Given the description of an element on the screen output the (x, y) to click on. 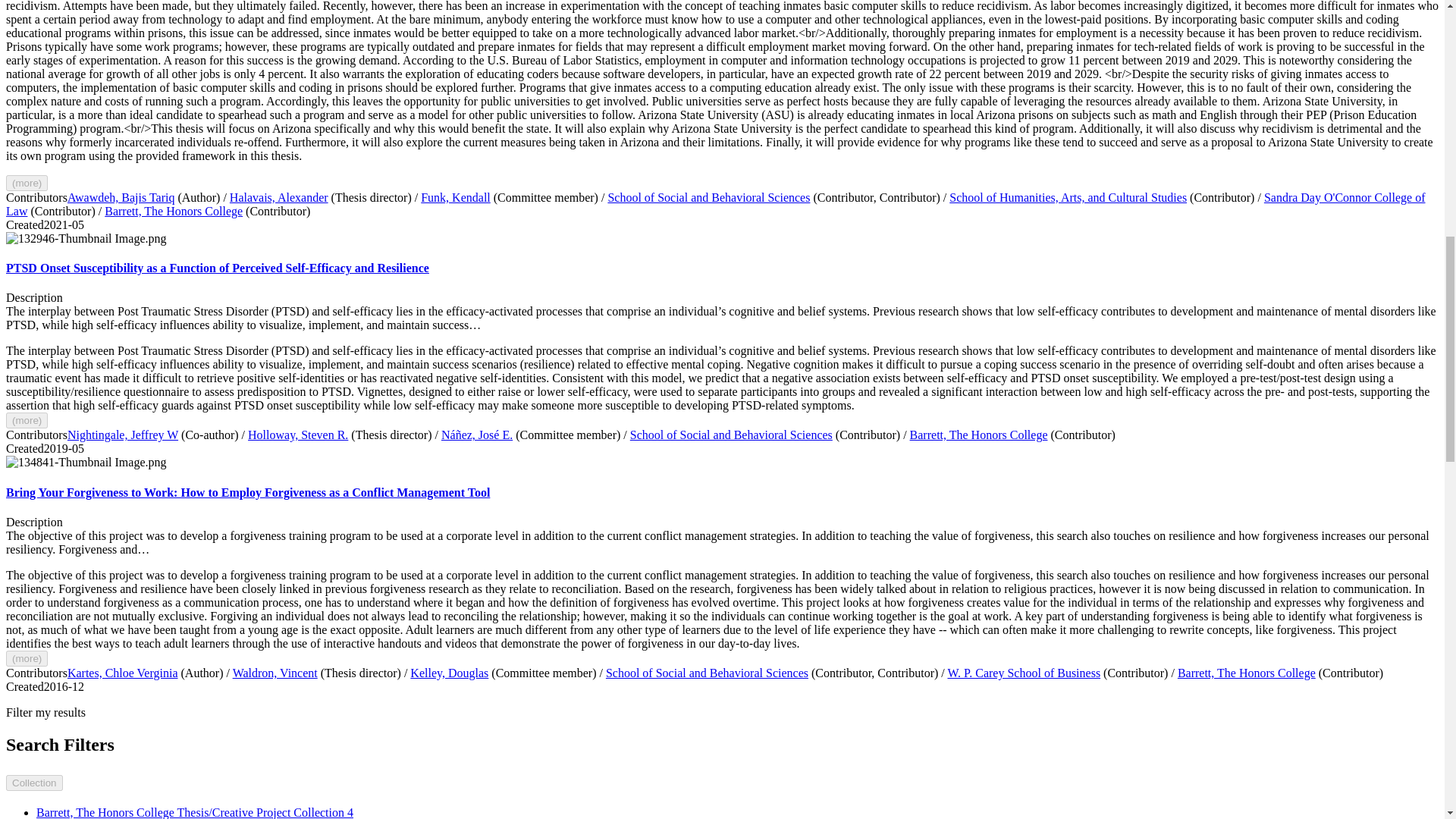
Halavais, Alexander (279, 196)
Funk, Kendall (455, 196)
Awawdeh, Bajis Tariq (120, 196)
School of Social and Behavioral Sciences (708, 196)
